Given the description of an element on the screen output the (x, y) to click on. 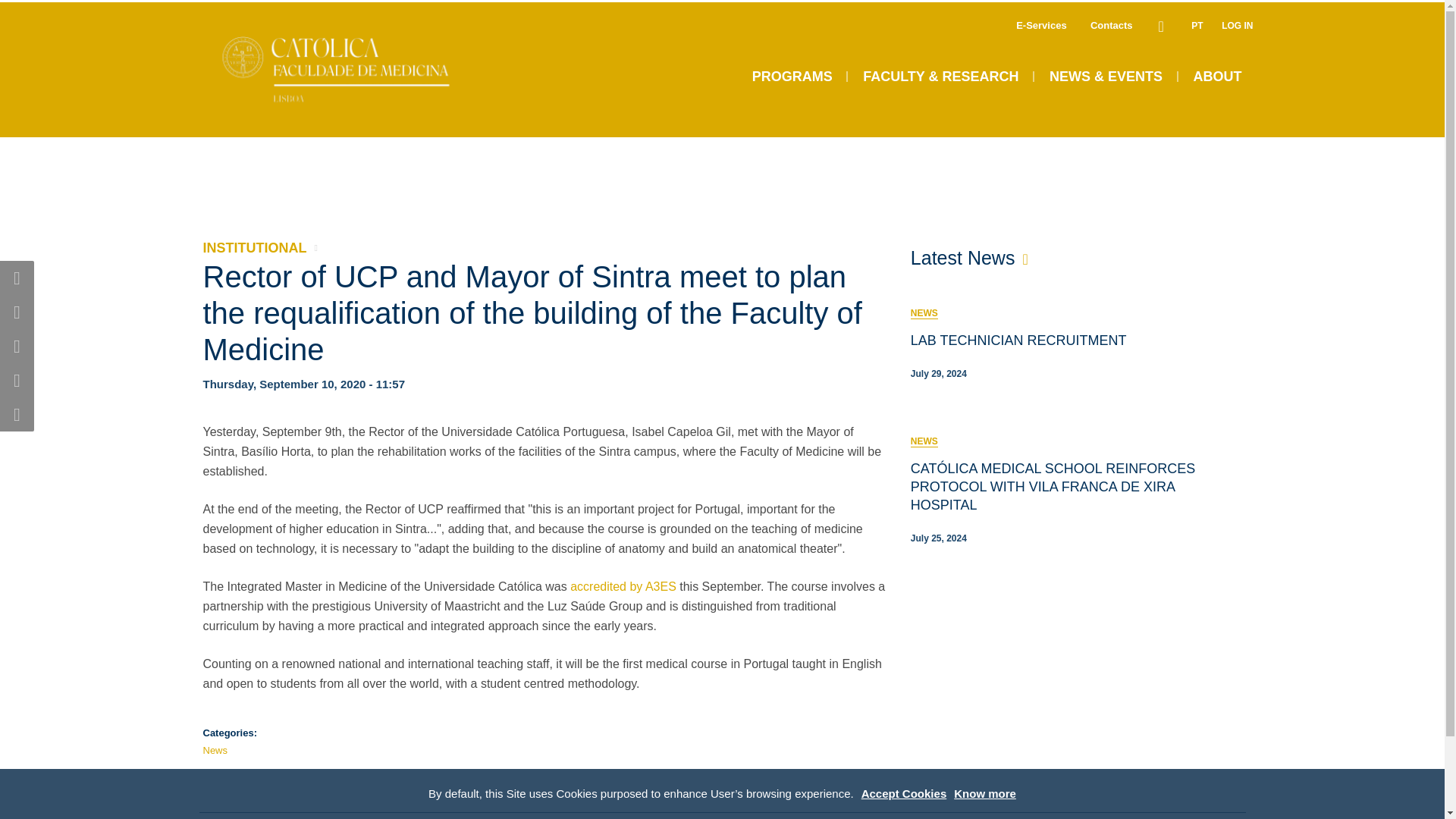
Home (354, 103)
